Given the description of an element on the screen output the (x, y) to click on. 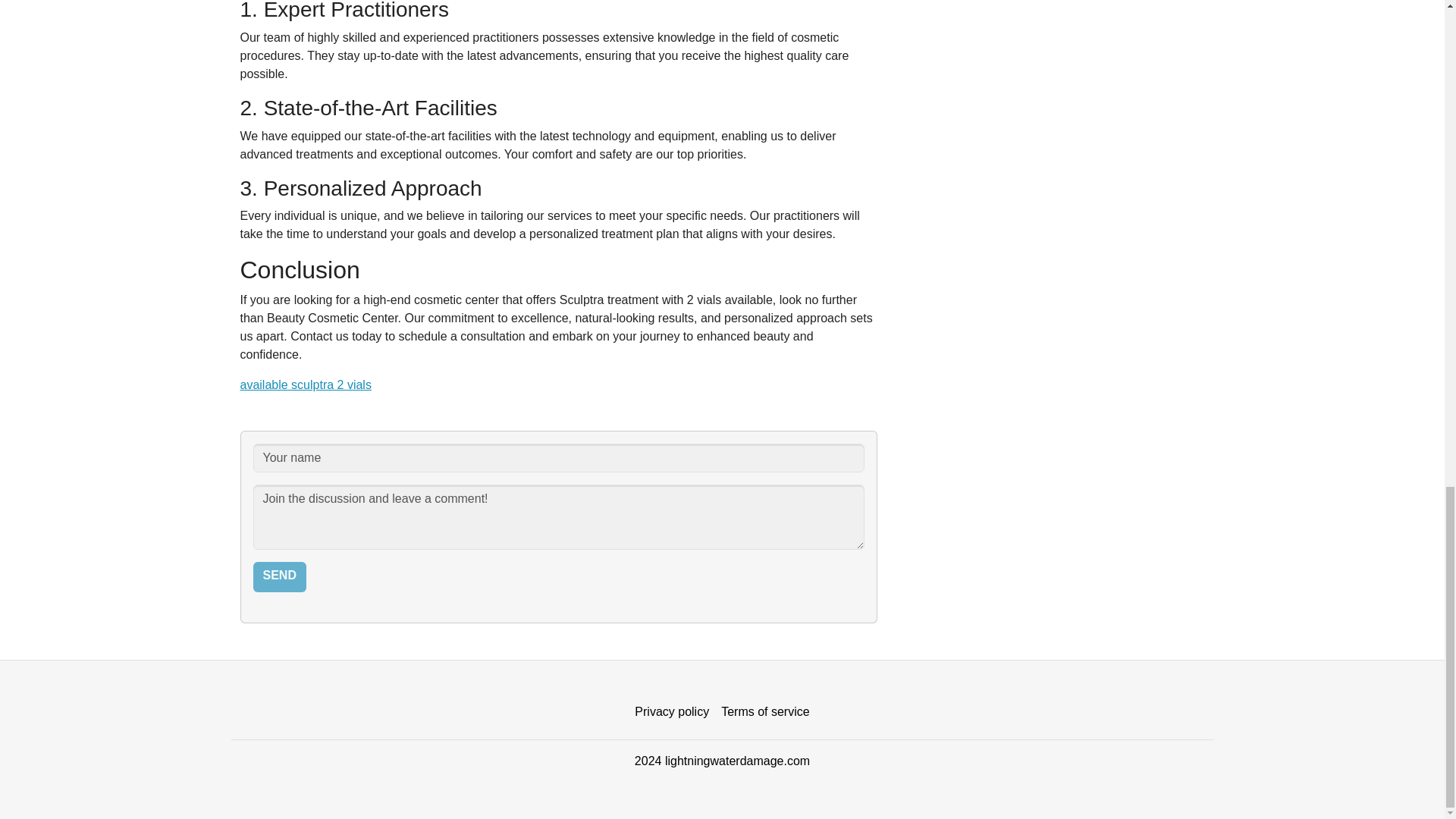
available sculptra 2 vials (305, 384)
Terms of service (764, 711)
Privacy policy (671, 711)
Send (279, 576)
Send (279, 576)
